Given the description of an element on the screen output the (x, y) to click on. 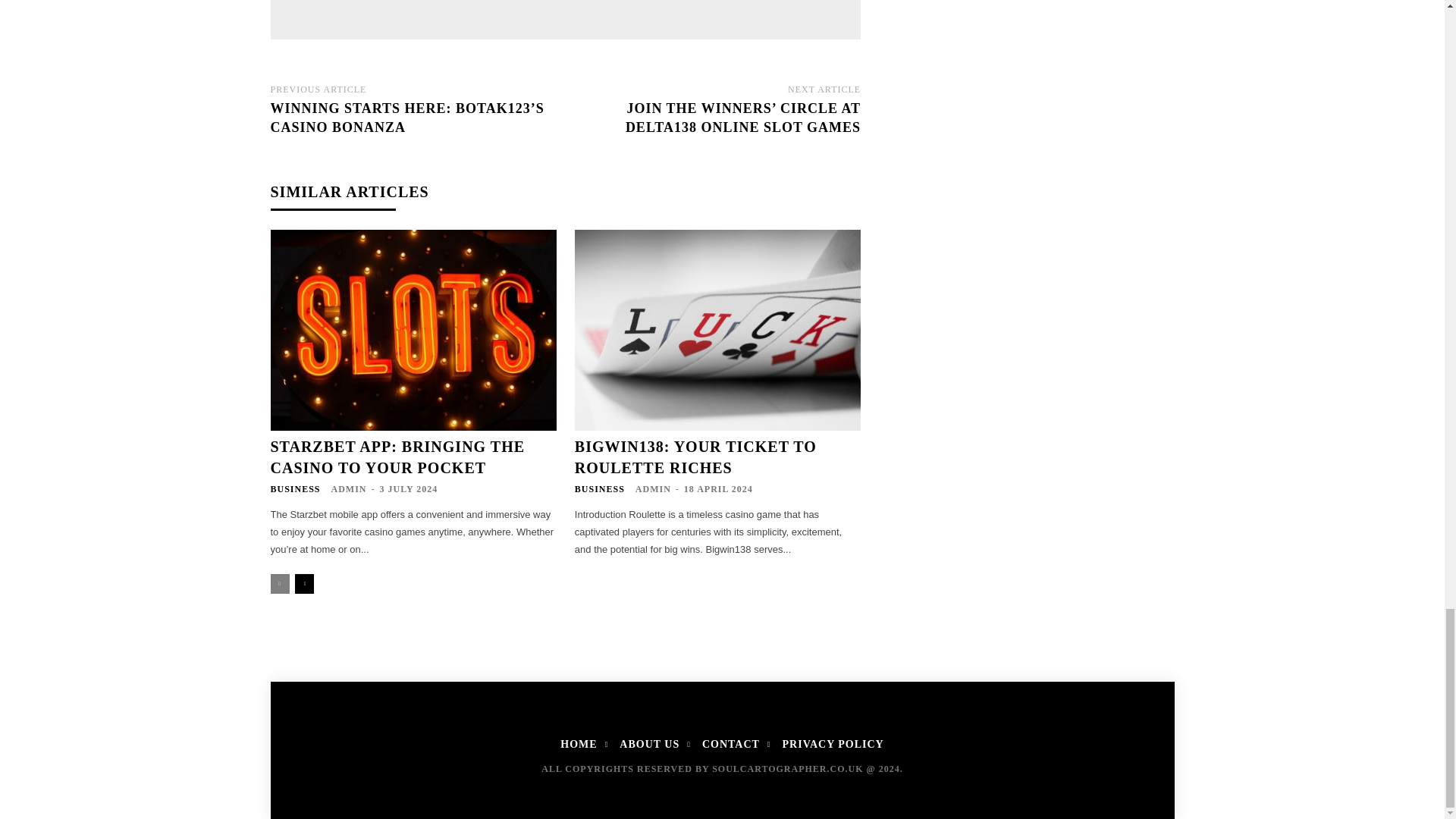
Starzbet APP: Bringing the Casino to Your Pocket (396, 456)
Starzbet APP: Bringing the Casino to Your Pocket (412, 329)
BigWin138: Your Ticket to Roulette Riches (695, 456)
BigWin138: Your Ticket to Roulette Riches (717, 329)
admin (475, 11)
